Given the description of an element on the screen output the (x, y) to click on. 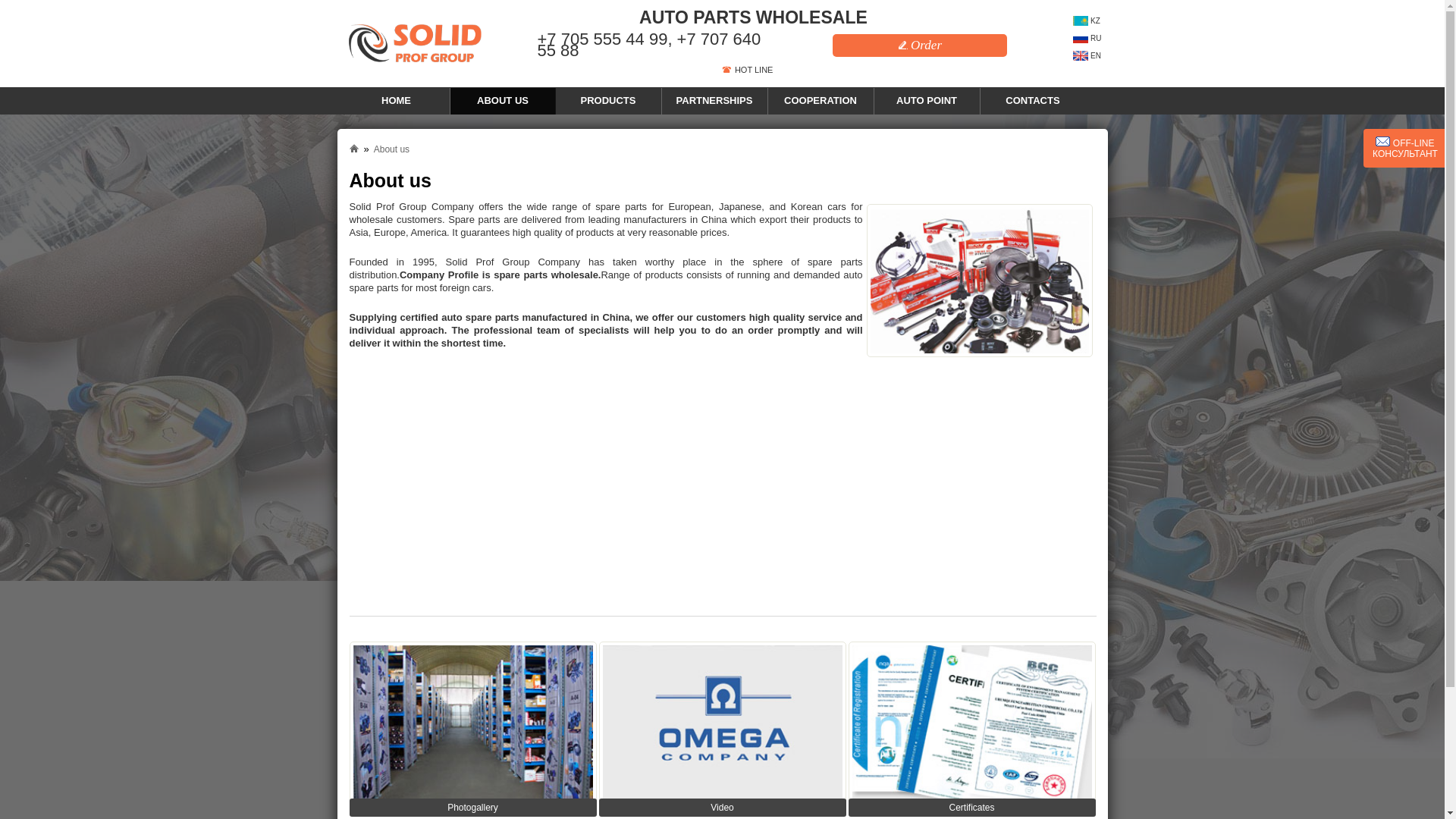
PARTNERSHIPS (714, 100)
Order (919, 45)
KZ (1086, 20)
Video (721, 725)
Home (353, 148)
PRODUCTS (608, 100)
EN (1086, 55)
Photogallery (472, 725)
COOPERATION (820, 100)
